Given the description of an element on the screen output the (x, y) to click on. 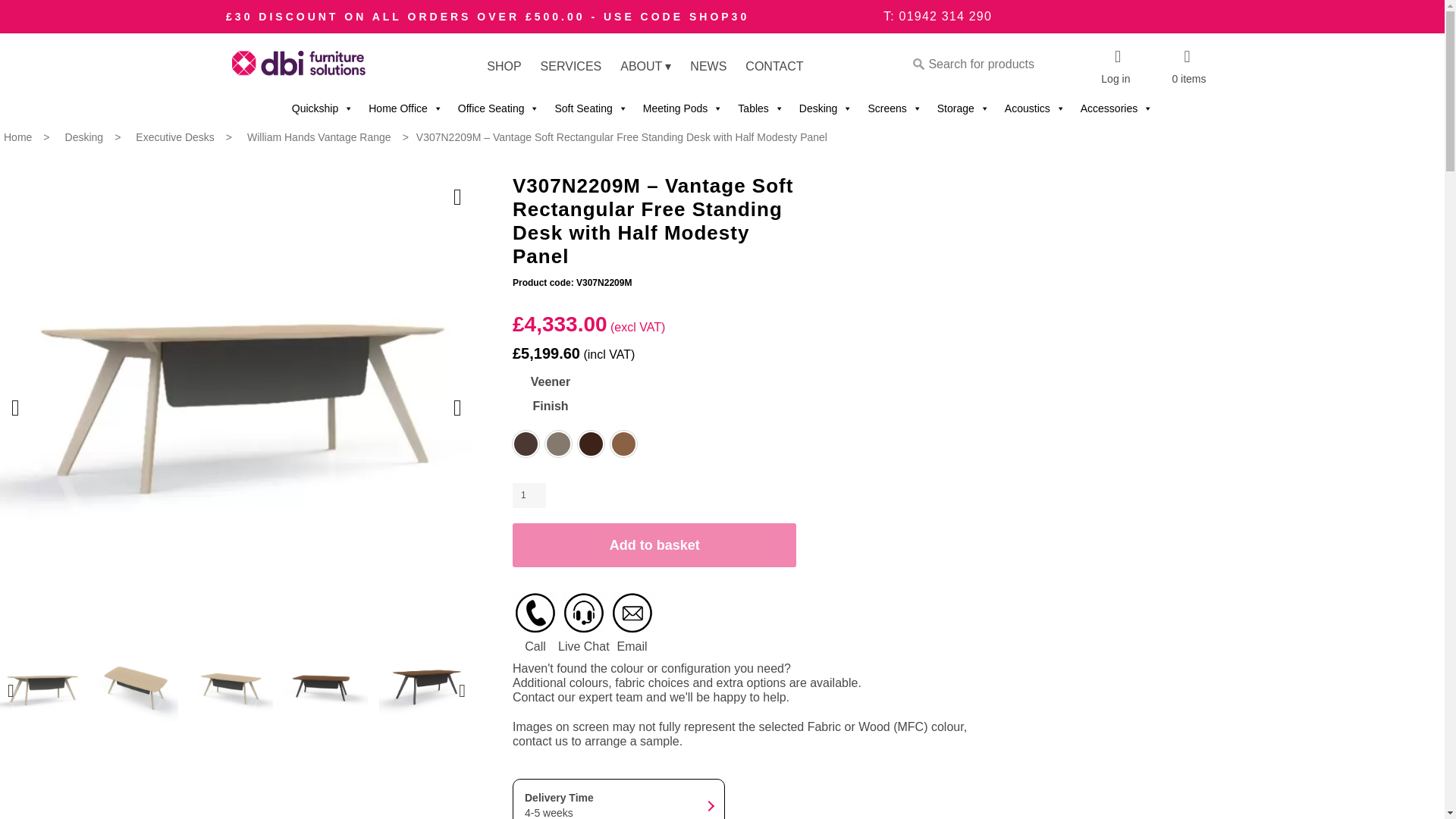
Log in (1115, 66)
Office Seating (498, 108)
View your shopping cart (1187, 66)
NEWS (708, 66)
CONTACT (774, 66)
SERVICES (571, 66)
0 items (1187, 66)
ABOUT (645, 66)
SHOP (503, 66)
T: 01942 314 290 (937, 16)
DBI Furniture Solutions (297, 67)
Home Office (405, 108)
Quickship (322, 108)
DBI Furniture Solutions (297, 67)
